Given the description of an element on the screen output the (x, y) to click on. 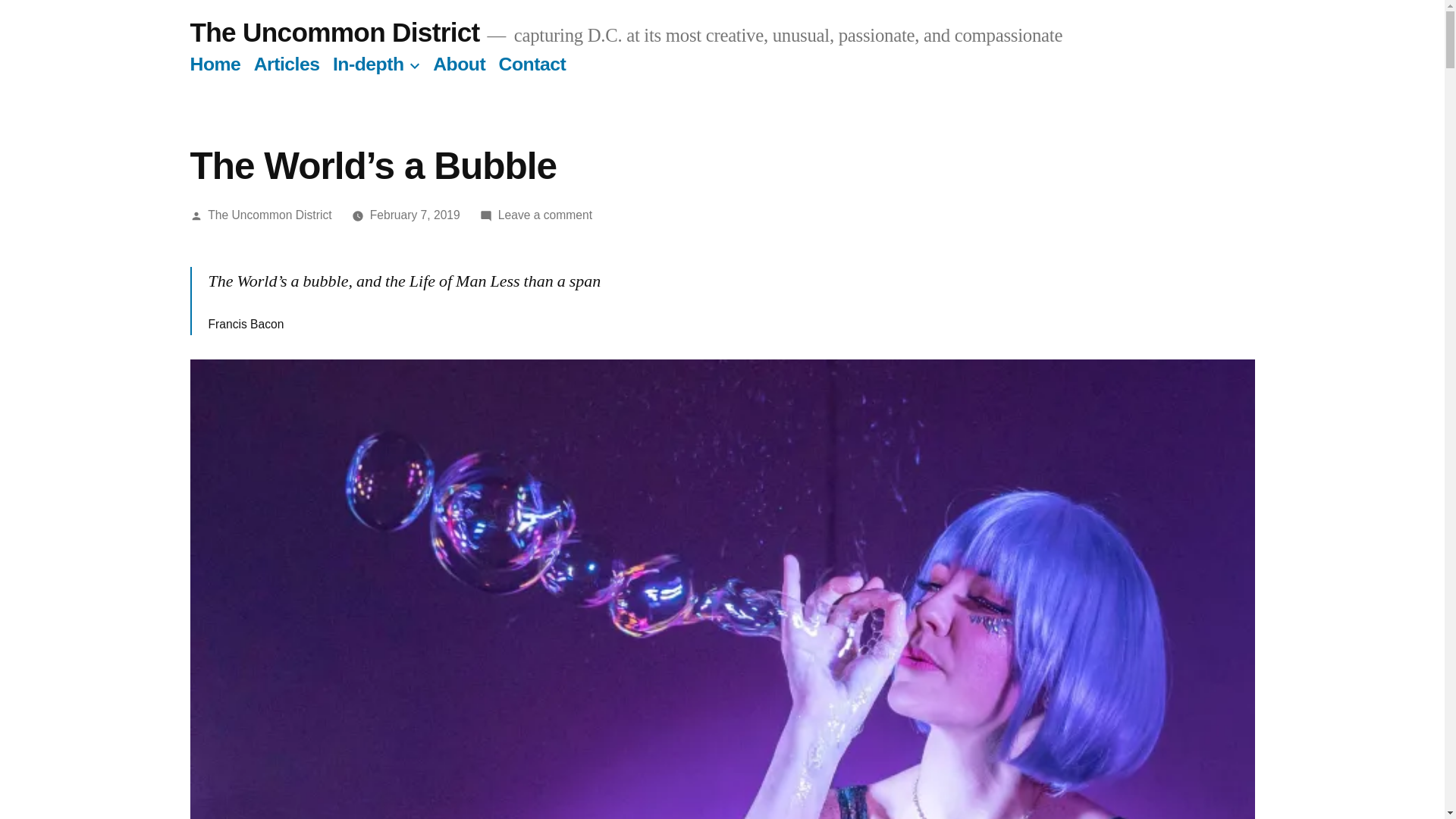
Articles (286, 64)
February 7, 2019 (414, 214)
About (458, 64)
The Uncommon District (269, 214)
The Uncommon District (334, 31)
Contact (532, 64)
Home (214, 64)
In-depth (368, 64)
